Given the description of an element on the screen output the (x, y) to click on. 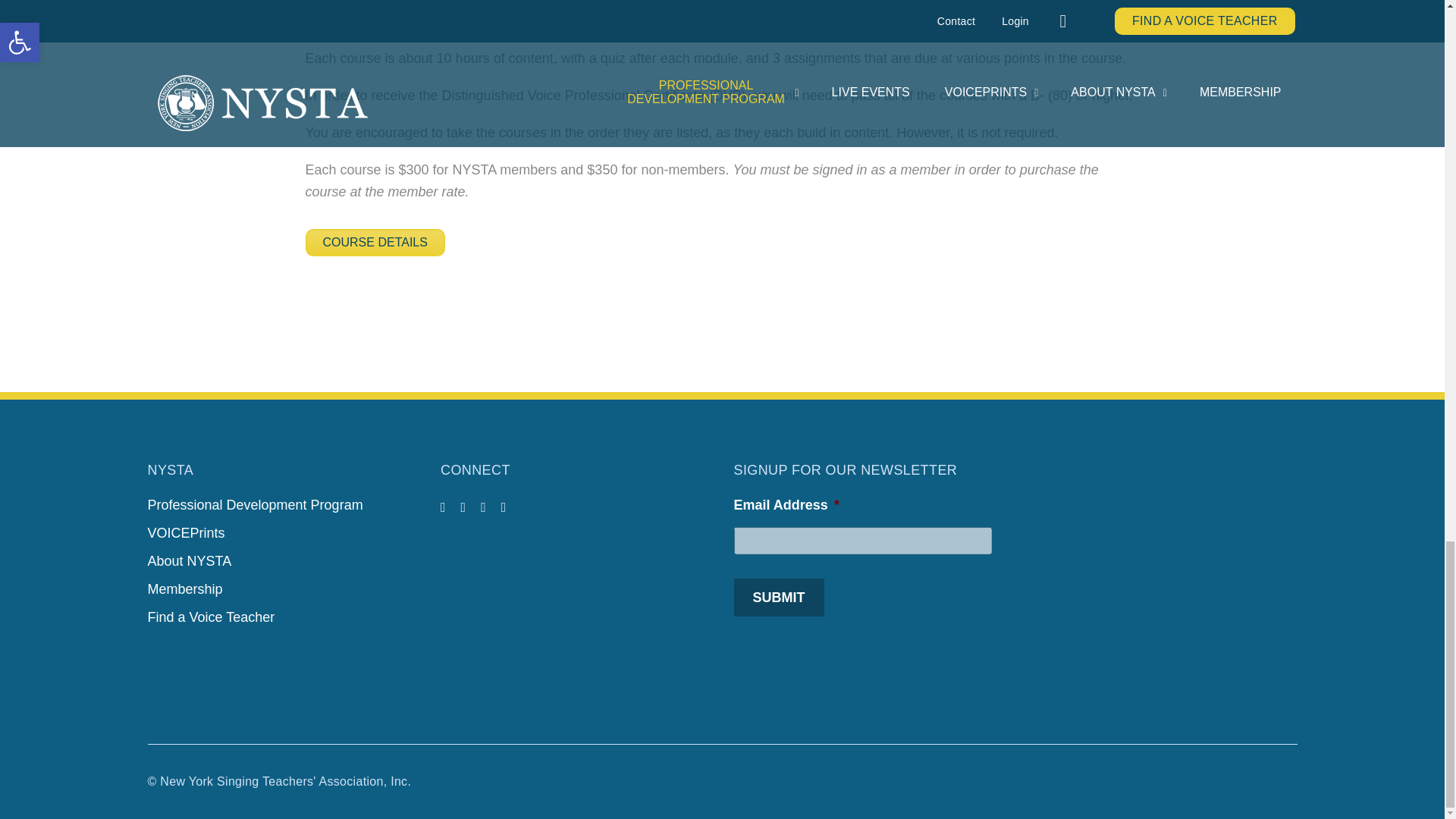
Submit (778, 597)
